Given the description of an element on the screen output the (x, y) to click on. 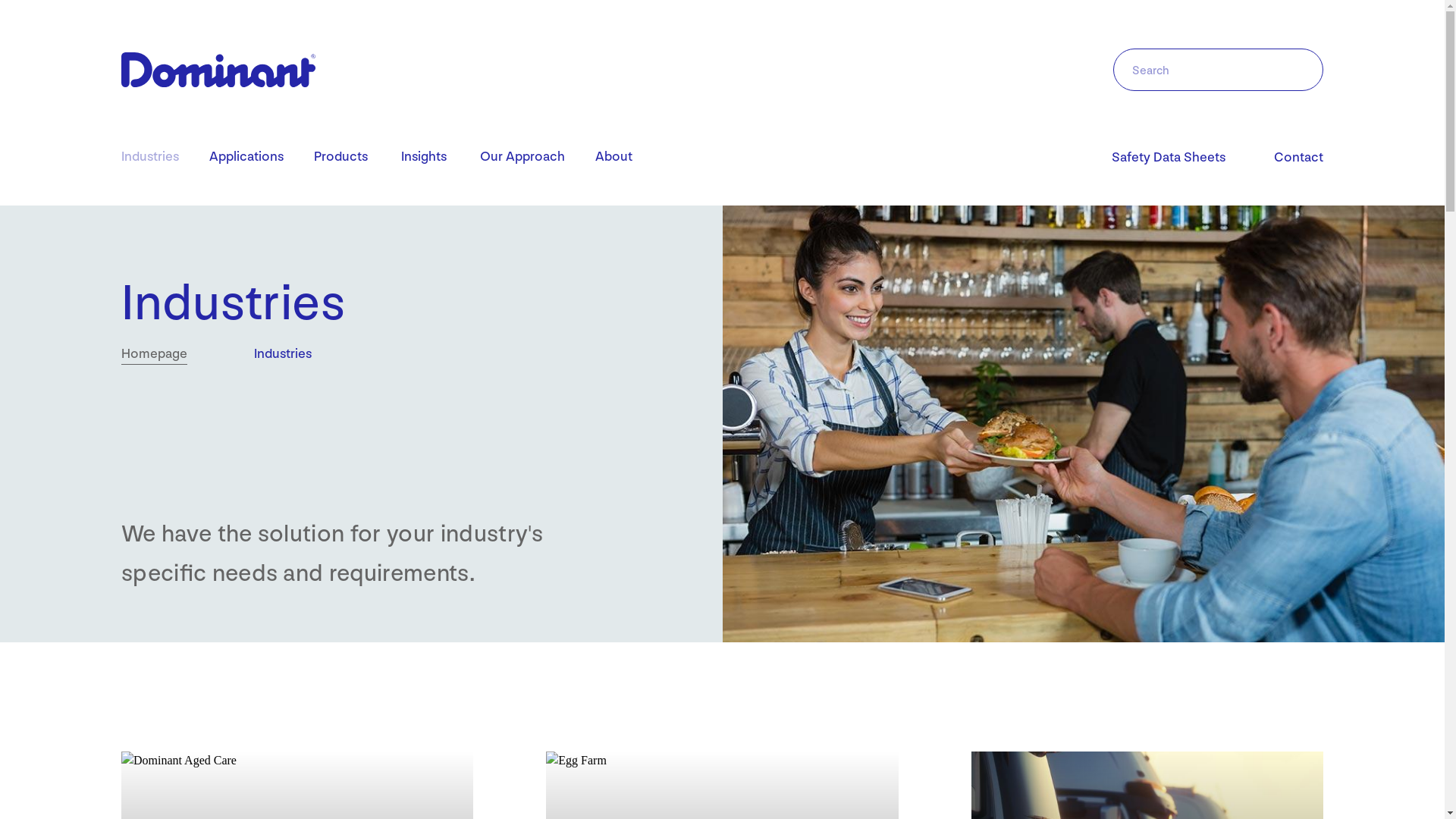
Our Approach Element type: text (522, 157)
Contact Element type: text (1298, 157)
Applications Element type: text (246, 157)
Go to homepage Element type: hover (218, 69)
Industries Element type: text (149, 157)
Homepage Element type: text (154, 353)
About Element type: text (613, 157)
Safety Data Sheets Element type: text (1168, 157)
Insights Element type: text (423, 157)
Products Element type: text (340, 157)
